Given the description of an element on the screen output the (x, y) to click on. 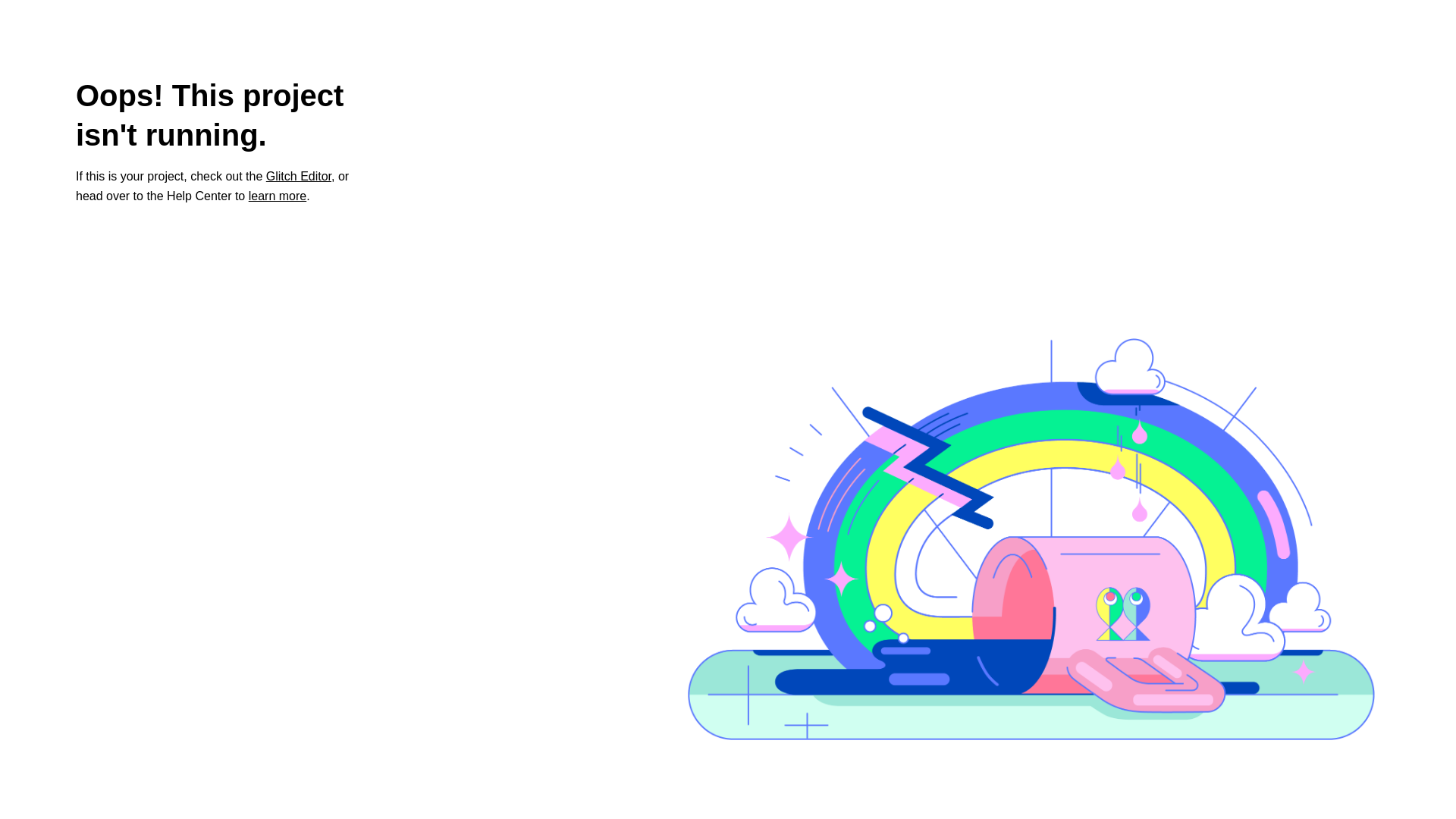
learn more Element type: text (277, 195)
Glitch Editor Element type: text (298, 175)
